Given the description of an element on the screen output the (x, y) to click on. 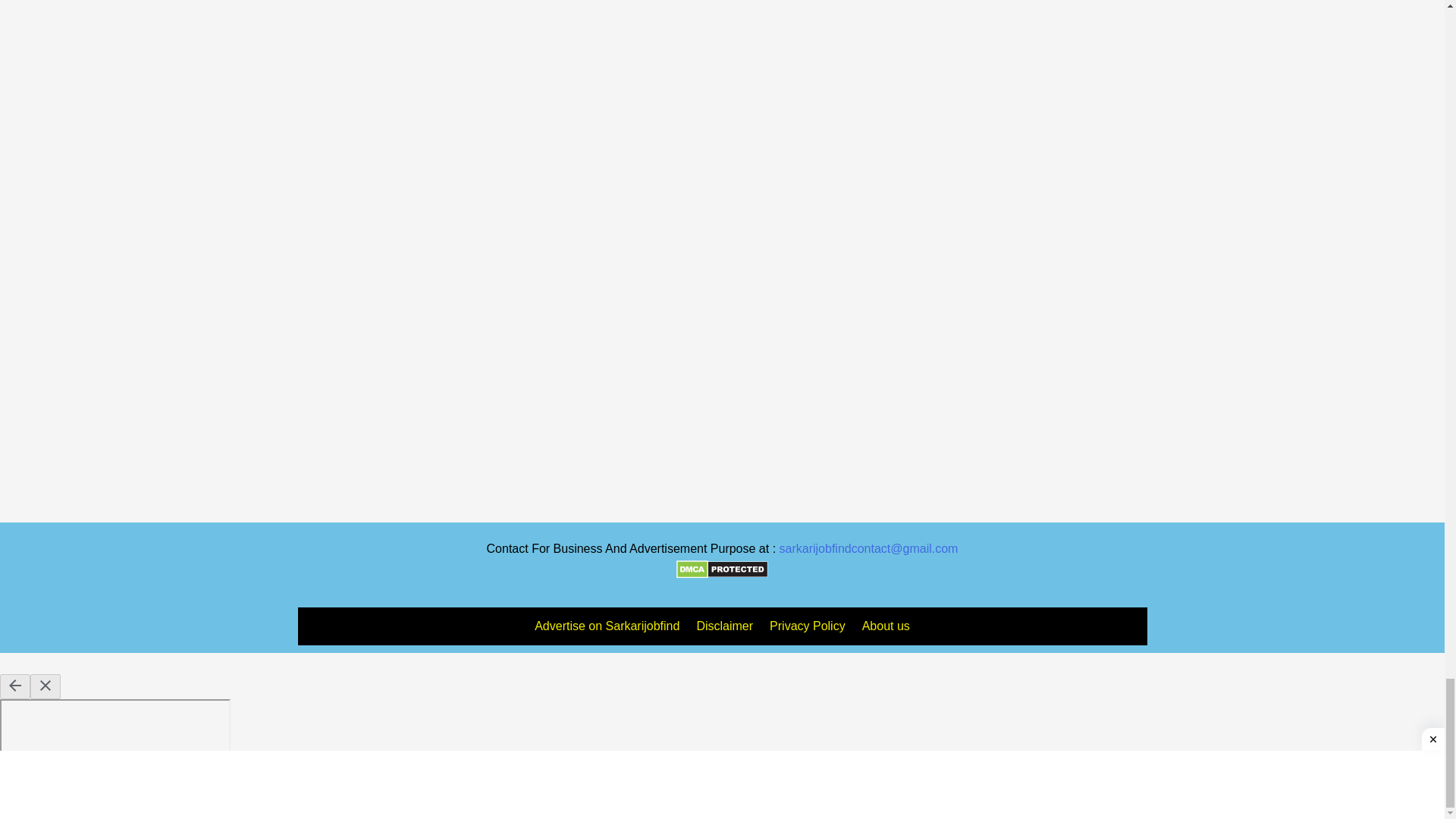
Advertisement (174, 1)
Advertise on Sarkarijobfind (606, 626)
Disclaimer (724, 626)
DMCA.com Protection Status (721, 569)
Privacy Policy (807, 626)
About us (885, 626)
Advertisement (174, 264)
